Given the description of an element on the screen output the (x, y) to click on. 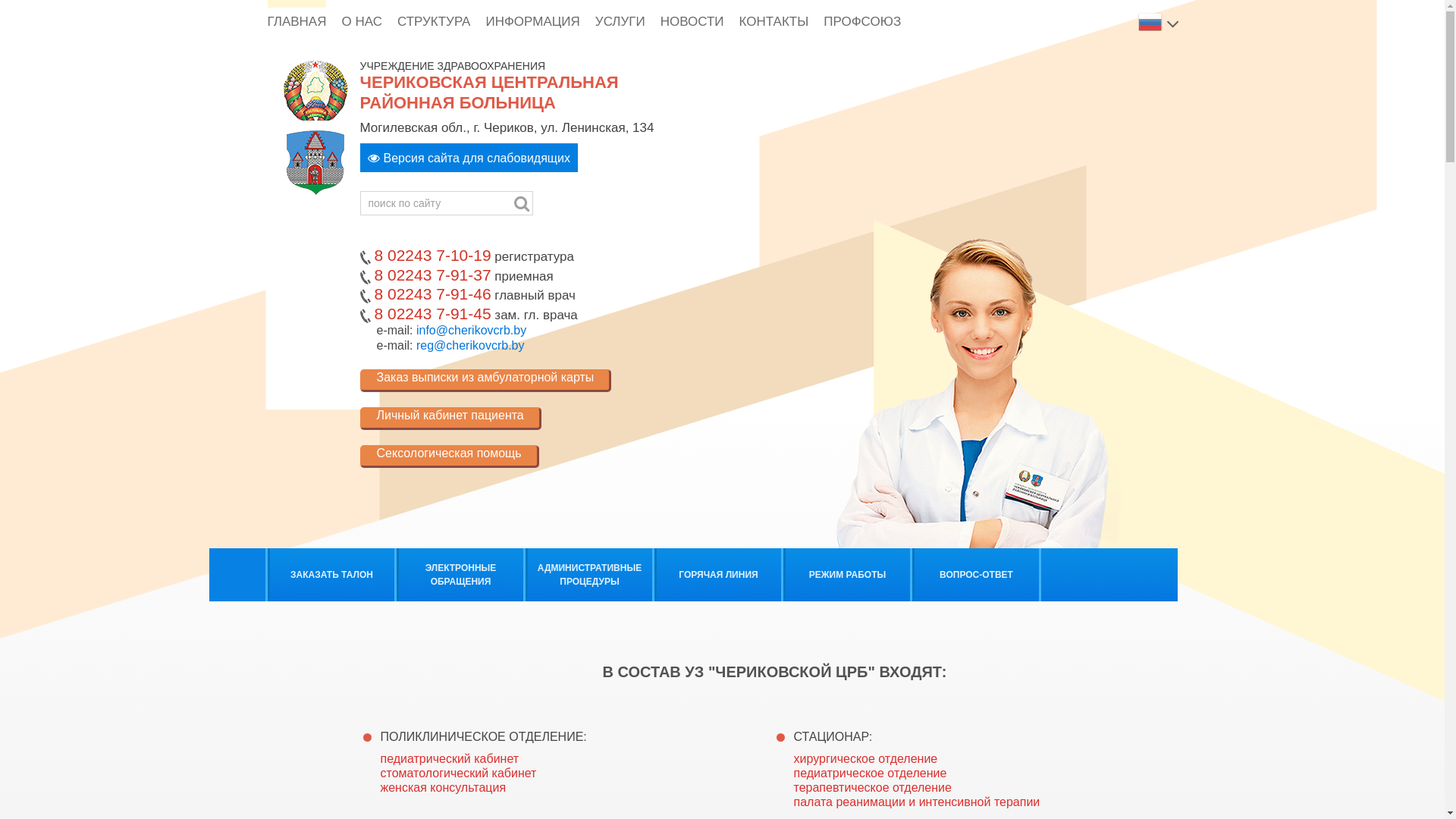
reg@cherikovcrb.by Element type: text (470, 344)
info@cherikovcrb.by Element type: text (471, 329)
Russian Element type: hover (1150, 21)
